Given the description of an element on the screen output the (x, y) to click on. 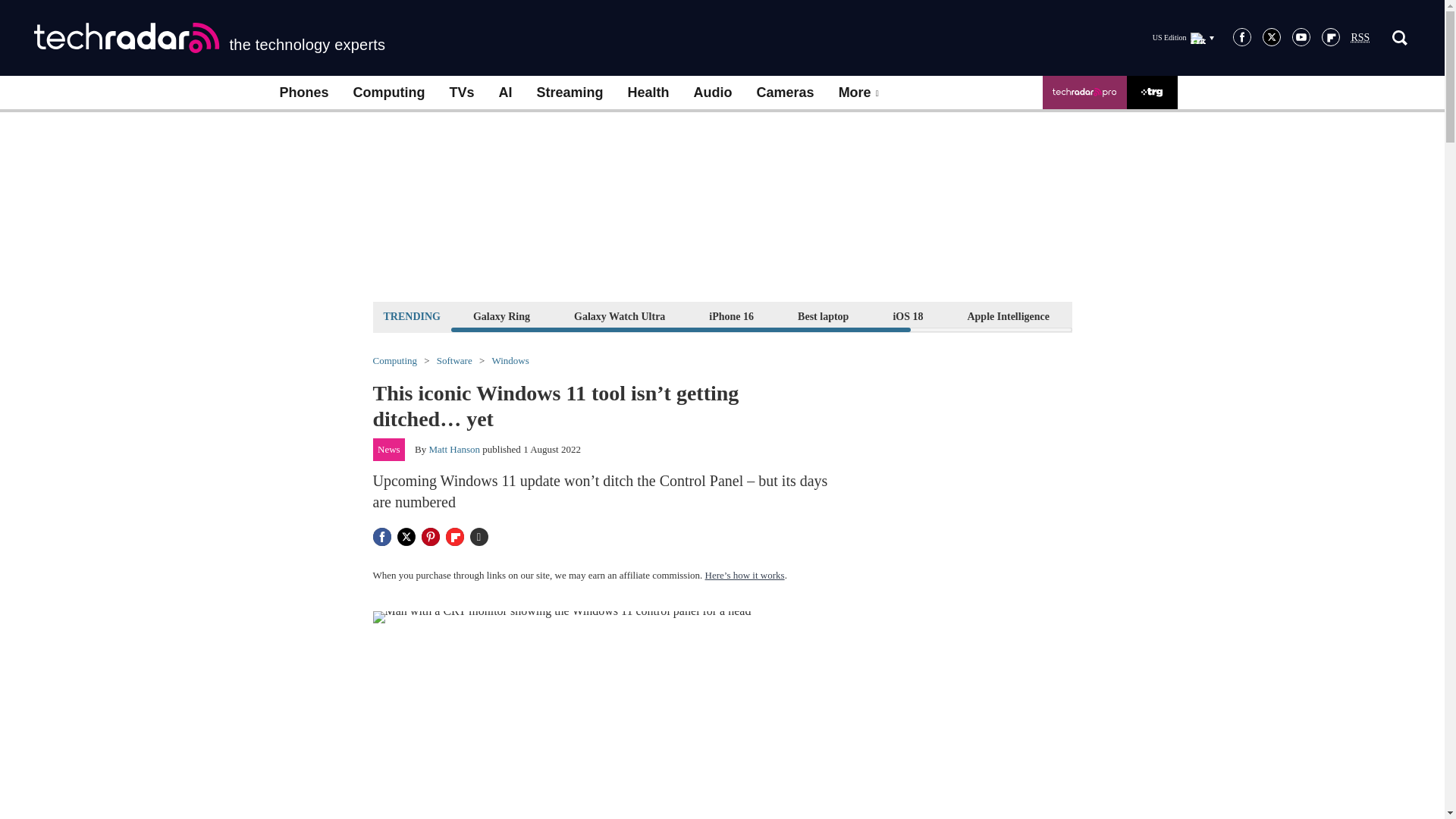
Audio (712, 92)
TVs (461, 92)
Really Simple Syndication (1360, 37)
Health (648, 92)
Streaming (569, 92)
Computing (389, 92)
US Edition (1182, 37)
AI (505, 92)
the technology experts (209, 38)
Phones (303, 92)
Cameras (785, 92)
